Given the description of an element on the screen output the (x, y) to click on. 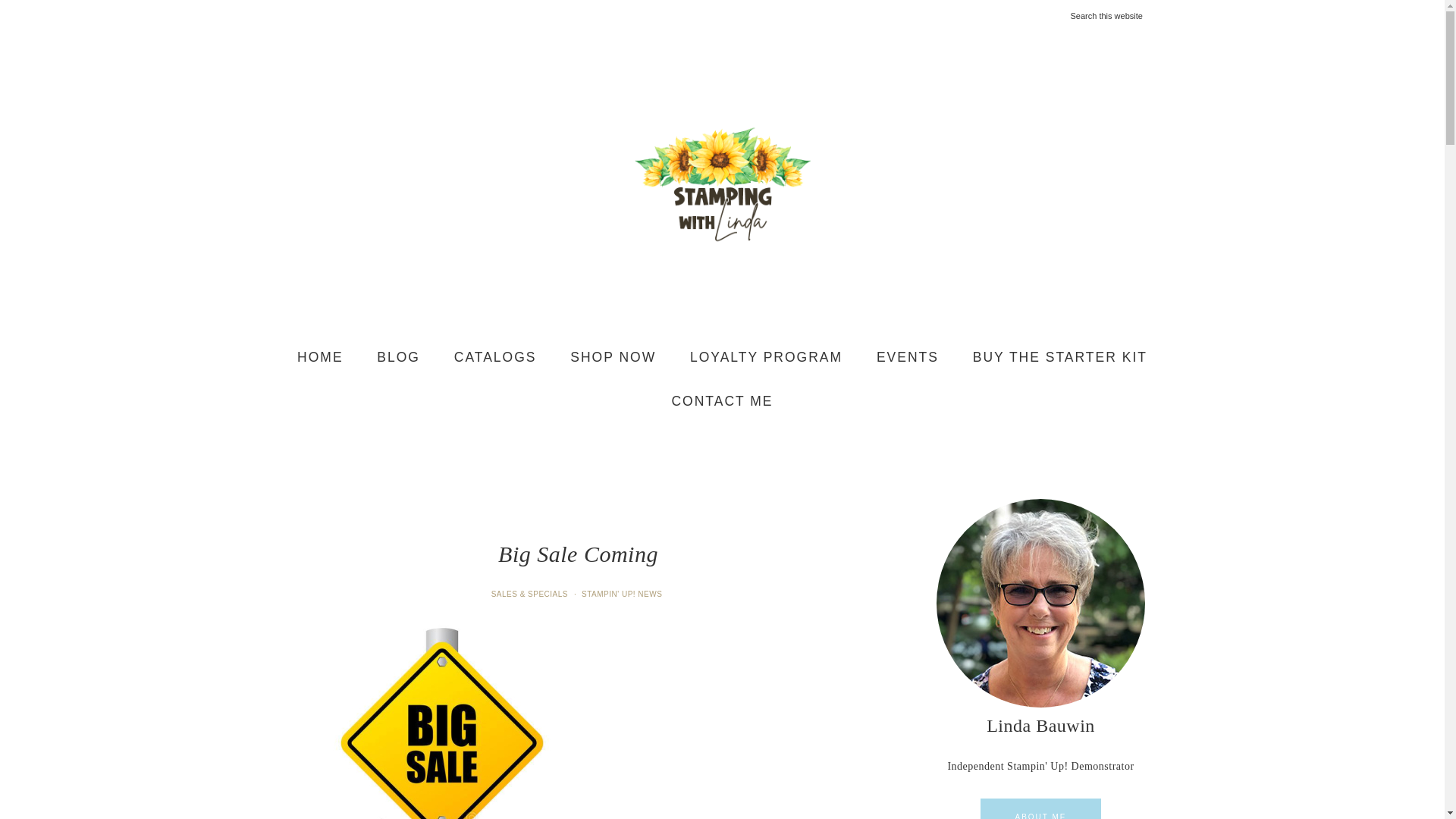
BLOG (398, 357)
EVENTS (907, 357)
STAMPIN' UP! NEWS (623, 593)
STAMPING WITH LINDA, CARD-IOLOGIST (722, 183)
HOME (320, 357)
BUY THE STARTER KIT (1059, 357)
CATALOGS (495, 357)
LOYALTY PROGRAM (766, 357)
SHOP NOW (612, 357)
CONTACT ME (721, 401)
